Given the description of an element on the screen output the (x, y) to click on. 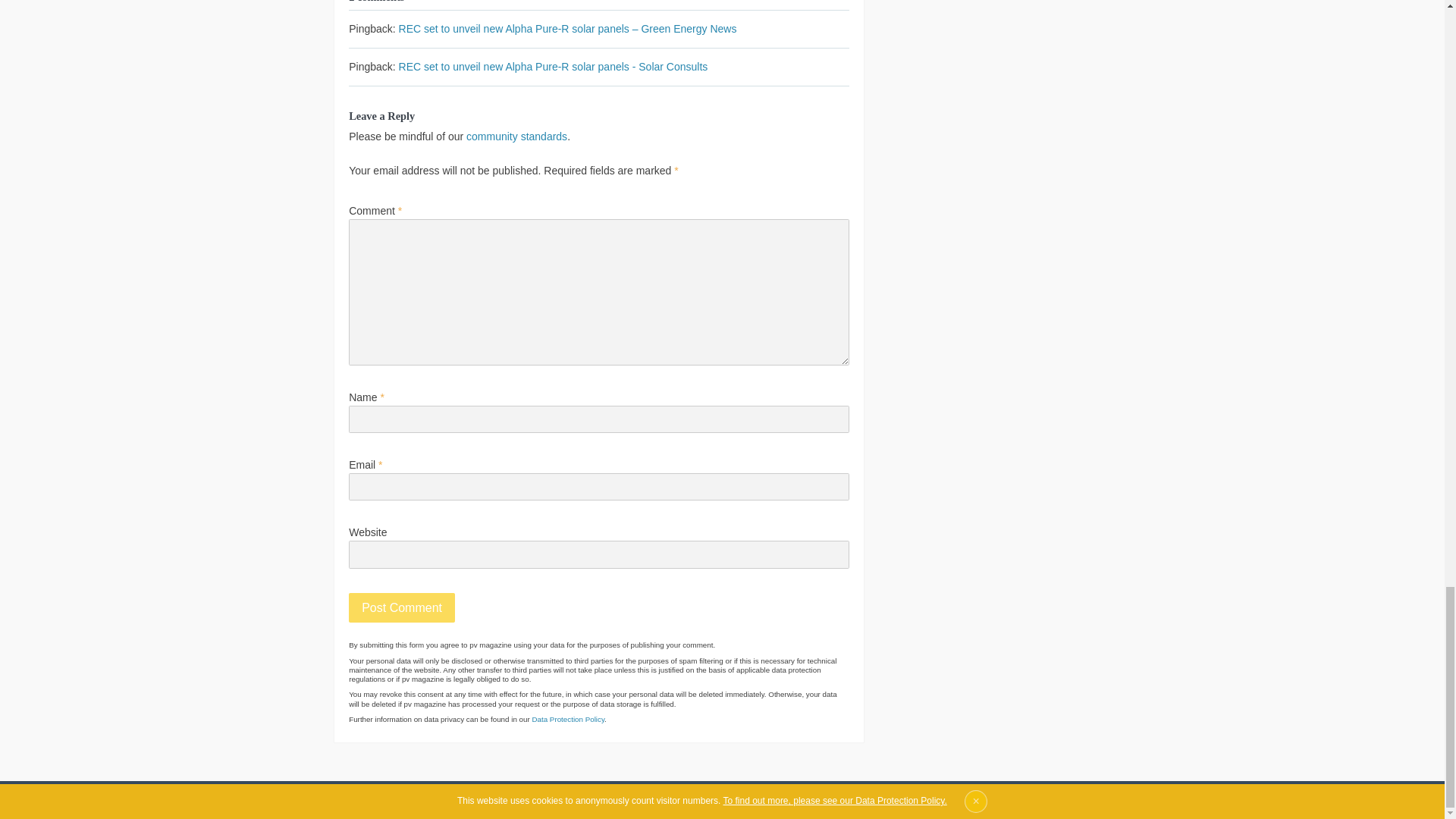
Post Comment (401, 607)
